Given the description of an element on the screen output the (x, y) to click on. 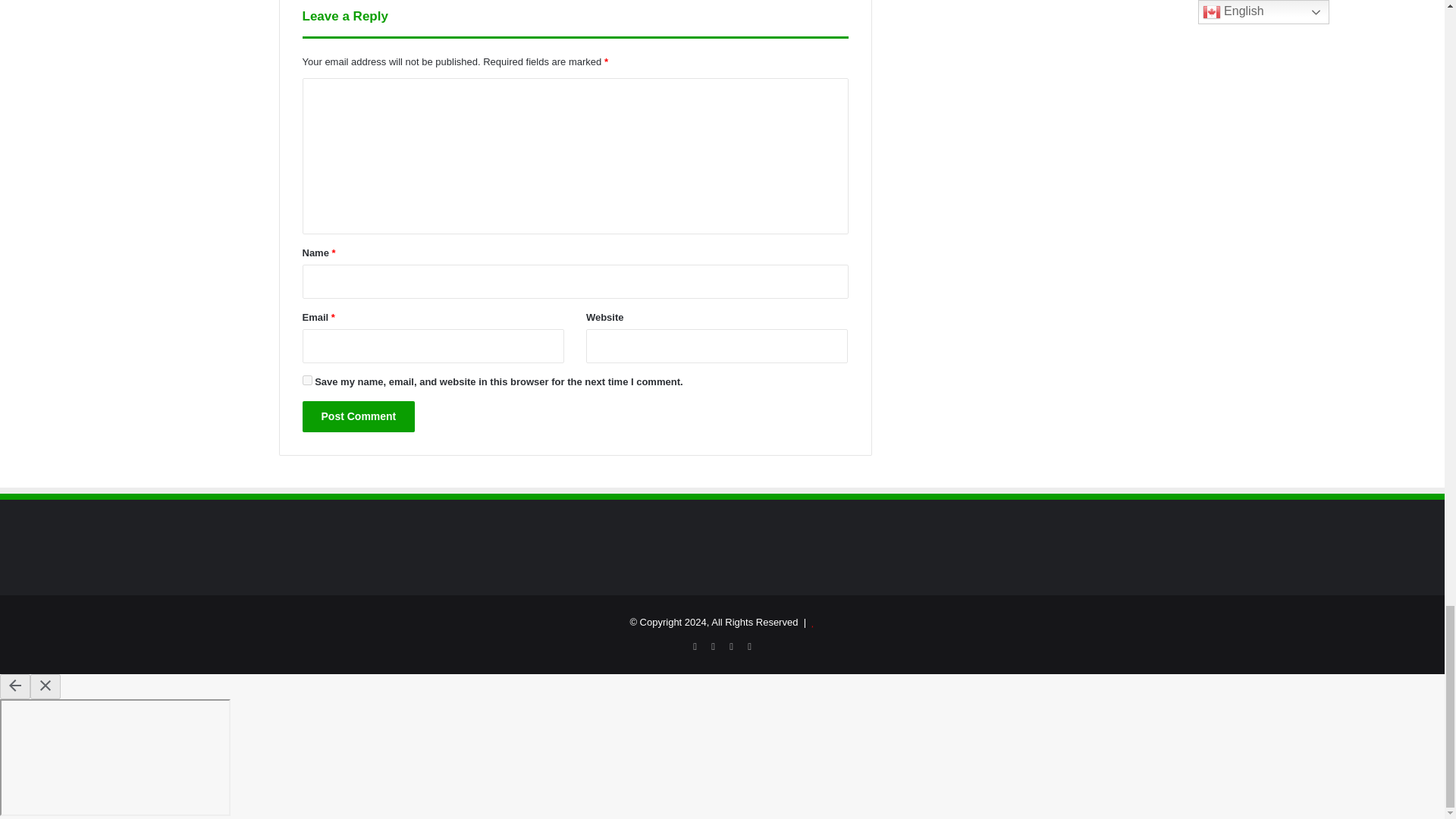
Post Comment (357, 416)
yes (306, 379)
